Given the description of an element on the screen output the (x, y) to click on. 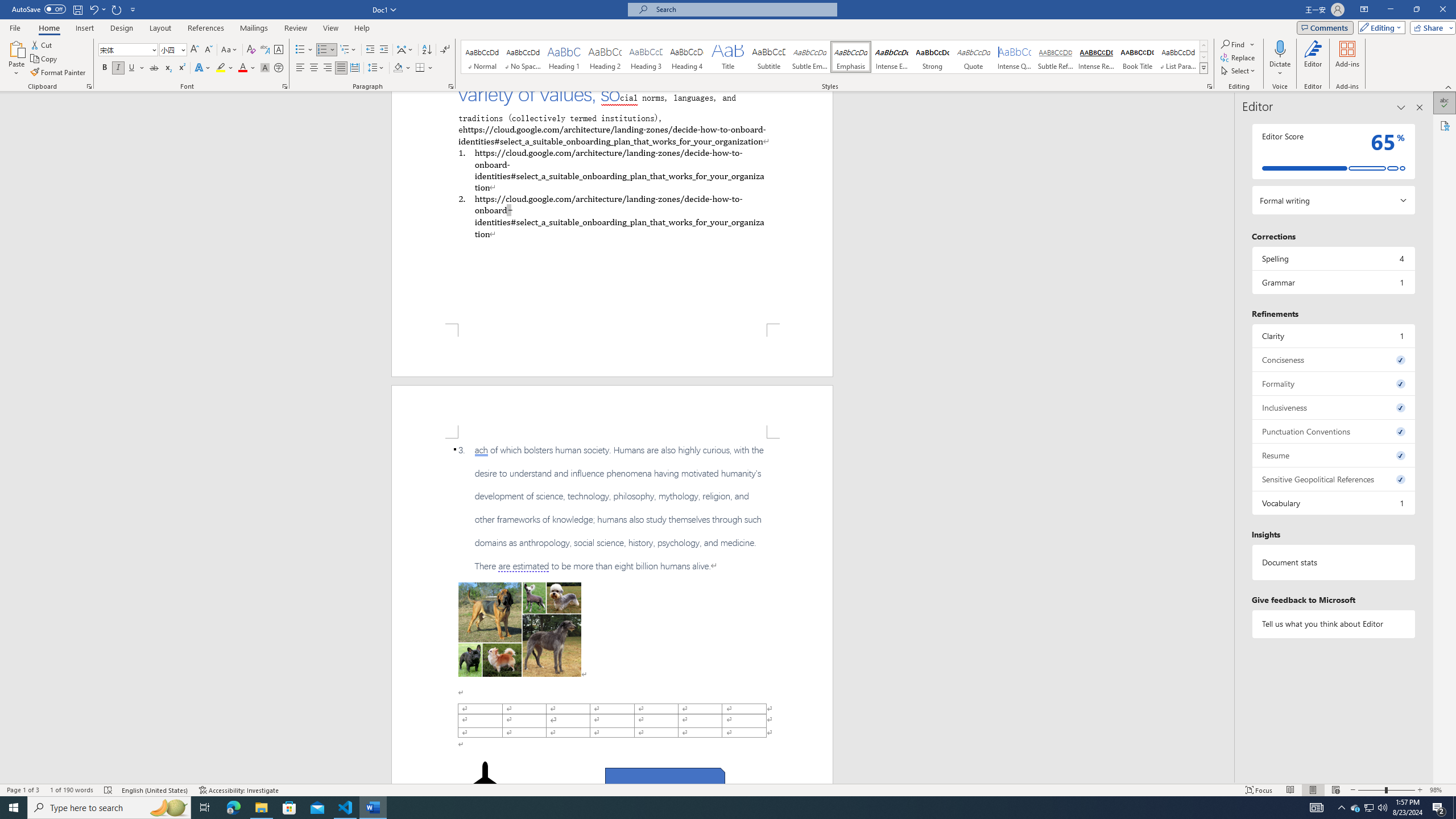
Intense Reference (1095, 56)
Repeat Style (117, 9)
